Given the description of an element on the screen output the (x, y) to click on. 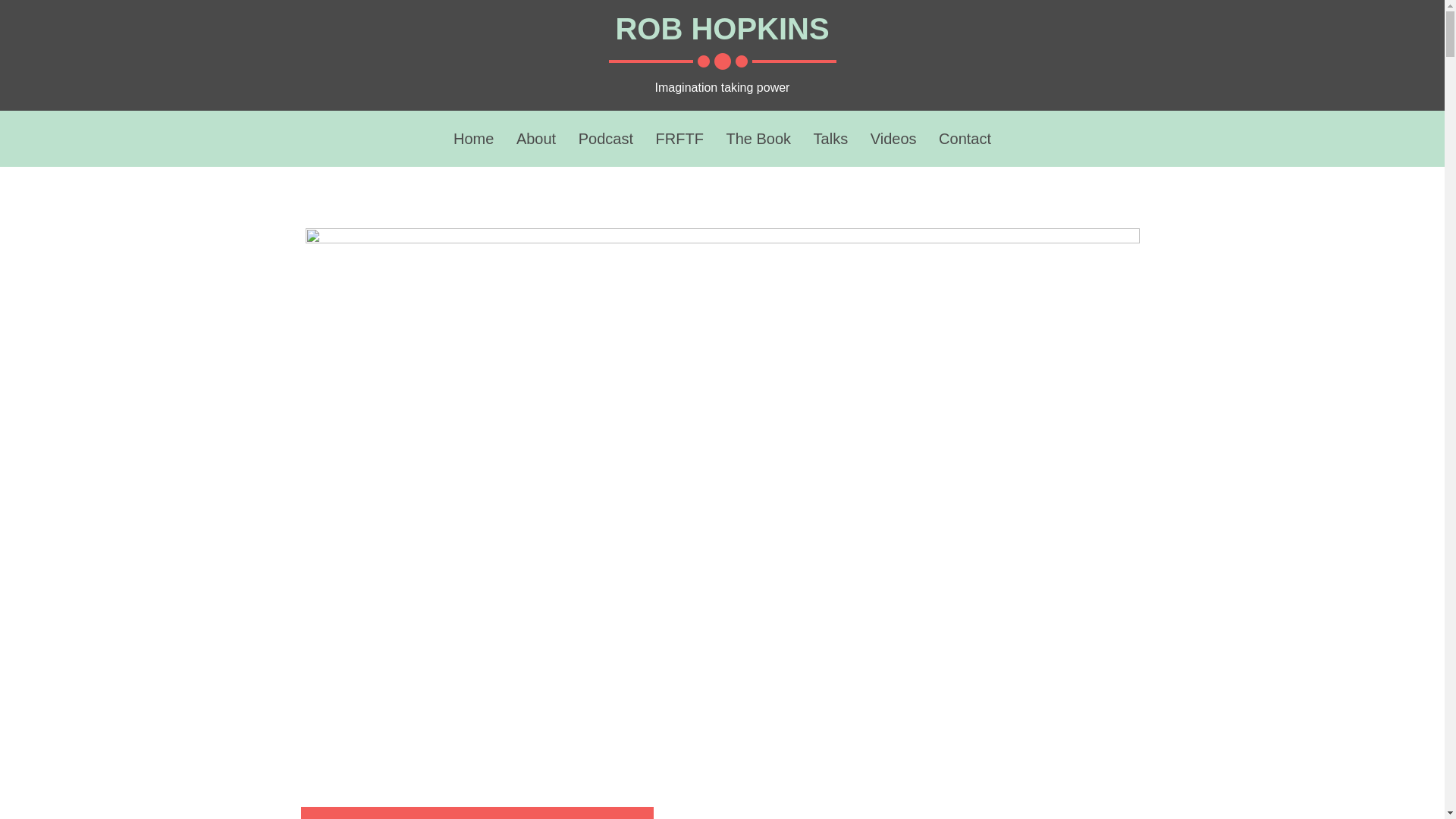
Contact (965, 140)
About (536, 140)
Podcast (605, 140)
Videos (893, 140)
Home (472, 140)
The Book (757, 140)
FRFTF (679, 140)
Talks (830, 140)
ROB HOPKINS (721, 28)
